Given the description of an element on the screen output the (x, y) to click on. 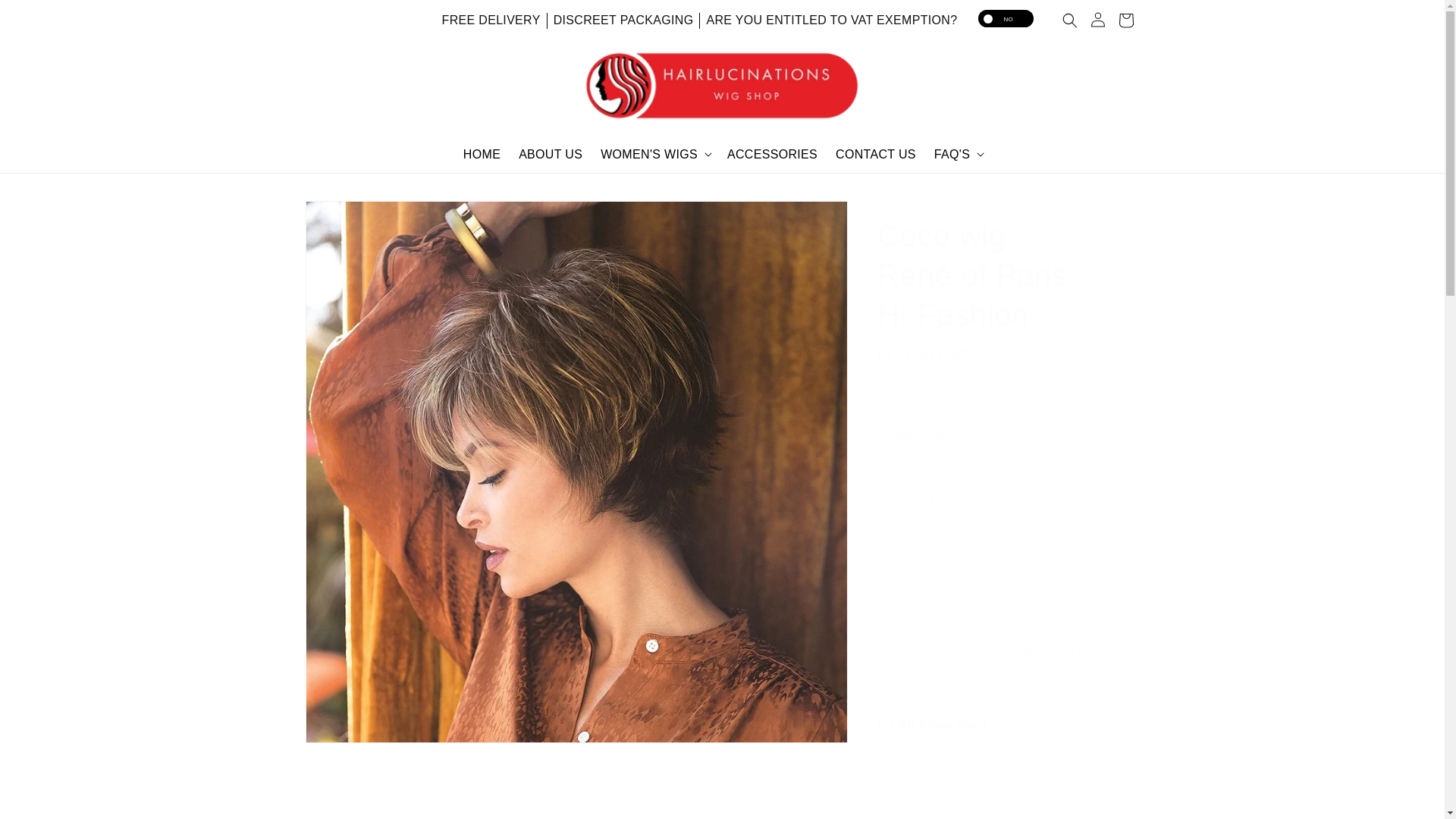
Cart (1124, 20)
Skip to content (45, 17)
FREE DELIVERY (494, 20)
DISCREET PACKAGING (623, 20)
1 (931, 501)
on (1005, 18)
